Given the description of an element on the screen output the (x, y) to click on. 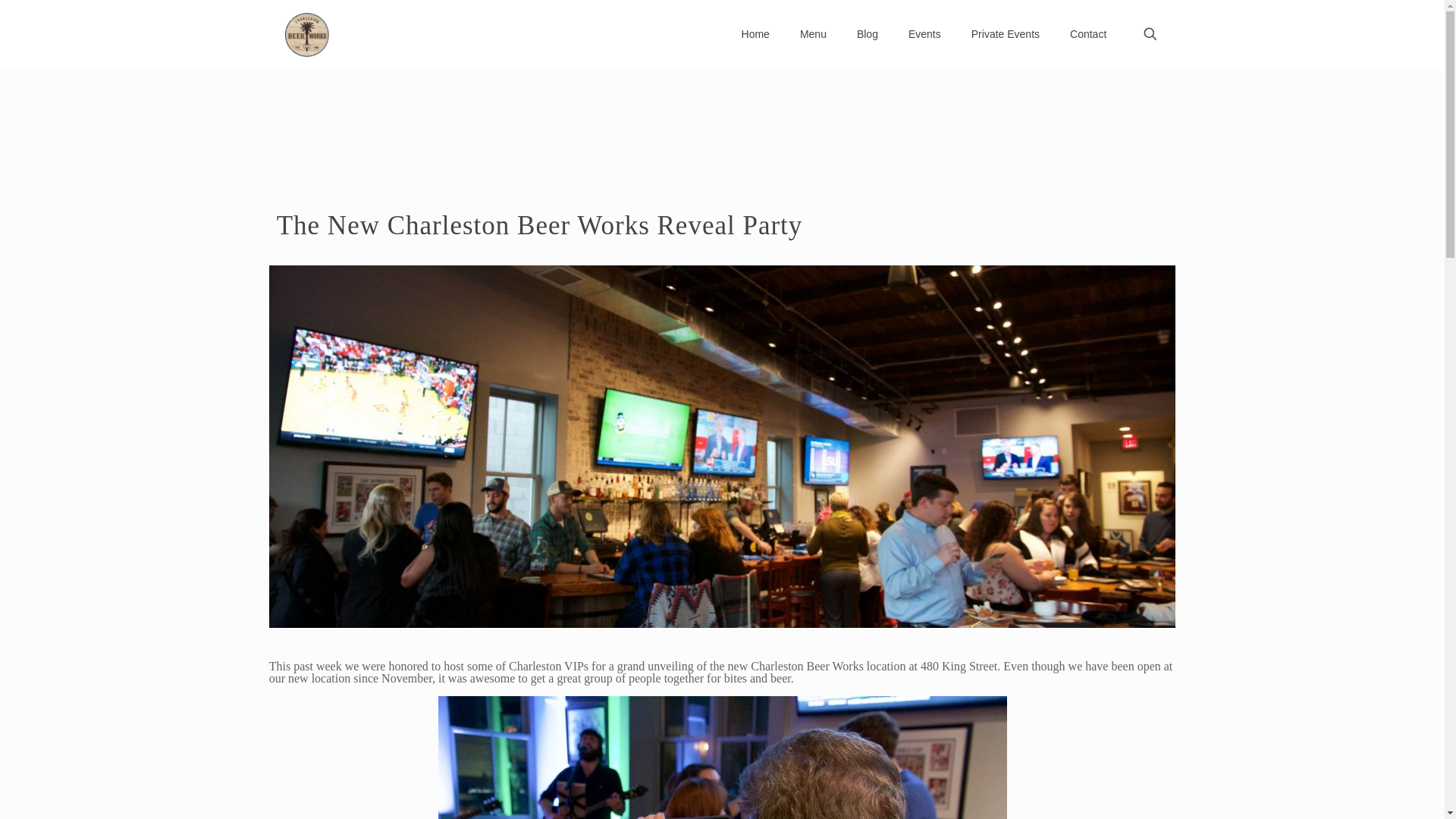
Events (924, 33)
Private Events (1005, 33)
Contact (1087, 33)
